Given the description of an element on the screen output the (x, y) to click on. 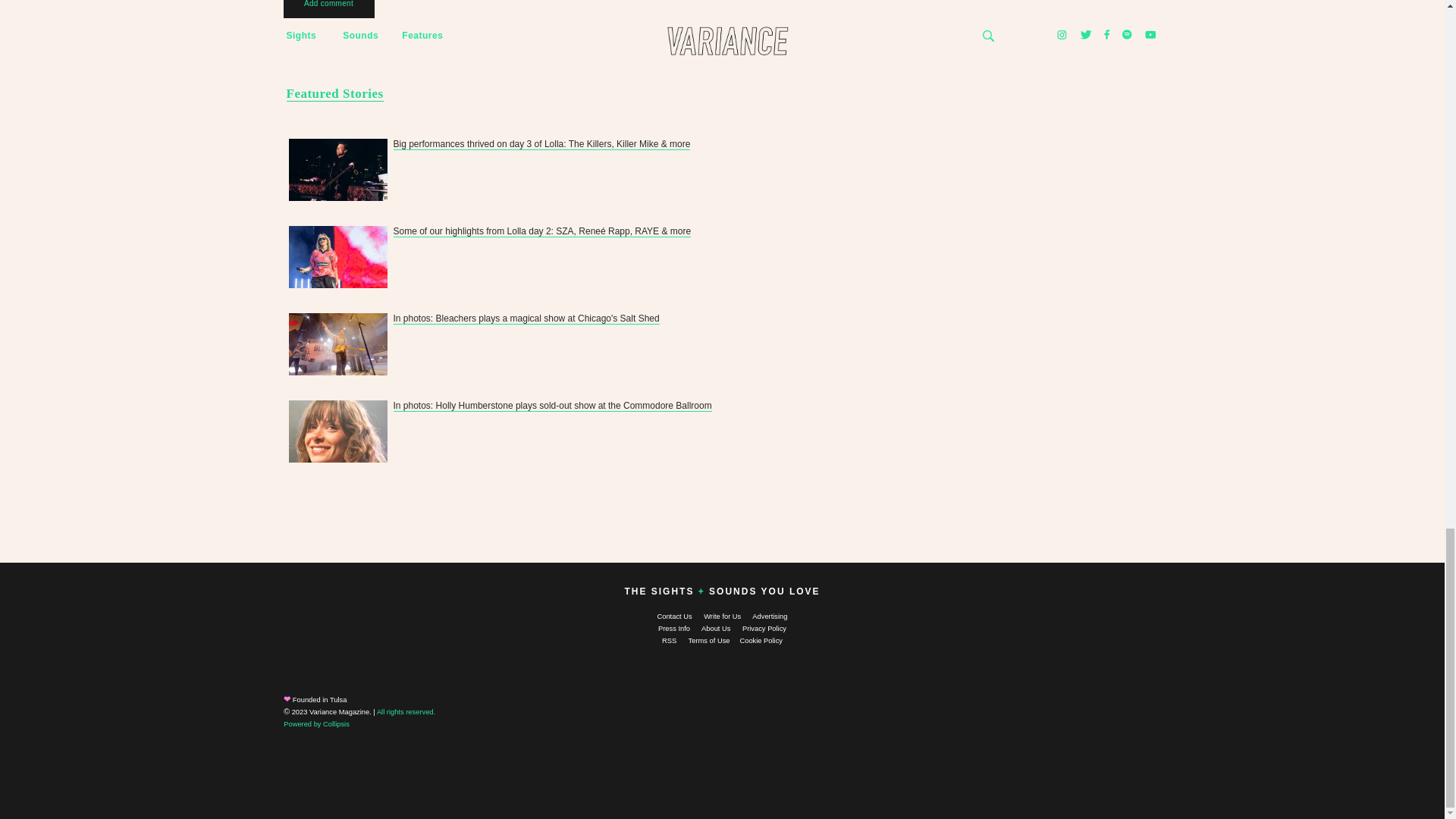
Add comment (328, 10)
